Given the description of an element on the screen output the (x, y) to click on. 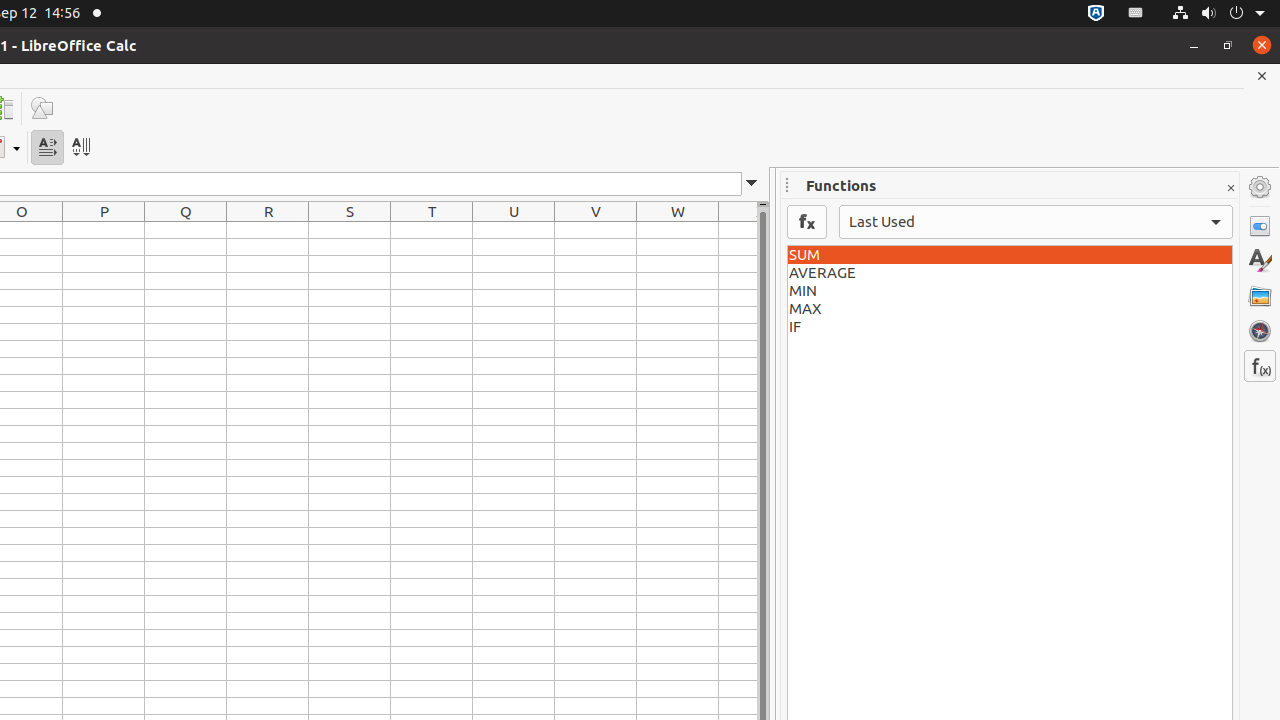
Navigator Element type: radio-button (1260, 331)
:1.21/StatusNotifierItem Element type: menu (1136, 13)
Insert Function into calculation sheet Element type: push-button (807, 222)
Styles Element type: radio-button (1260, 261)
Q1 Element type: table-cell (186, 230)
